Given the description of an element on the screen output the (x, y) to click on. 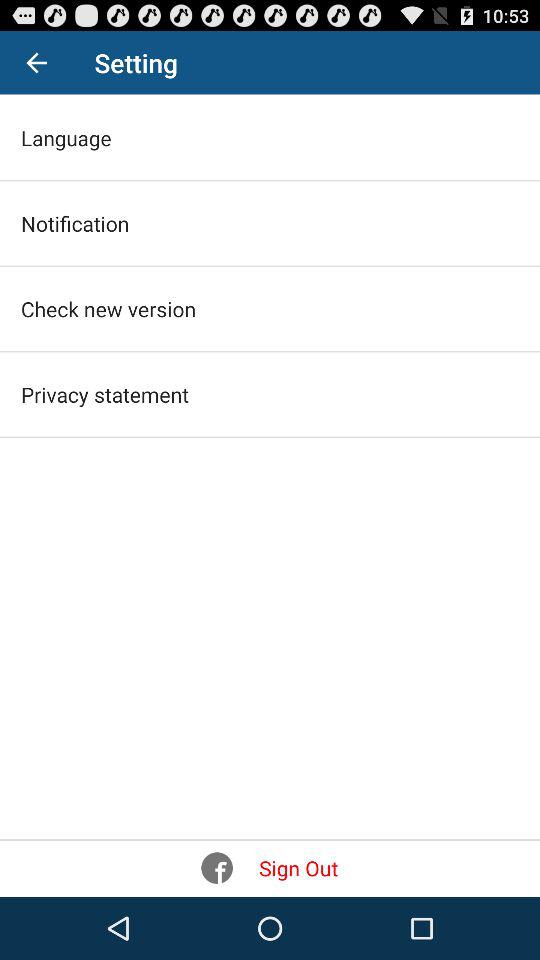
flip until check new version item (108, 308)
